Given the description of an element on the screen output the (x, y) to click on. 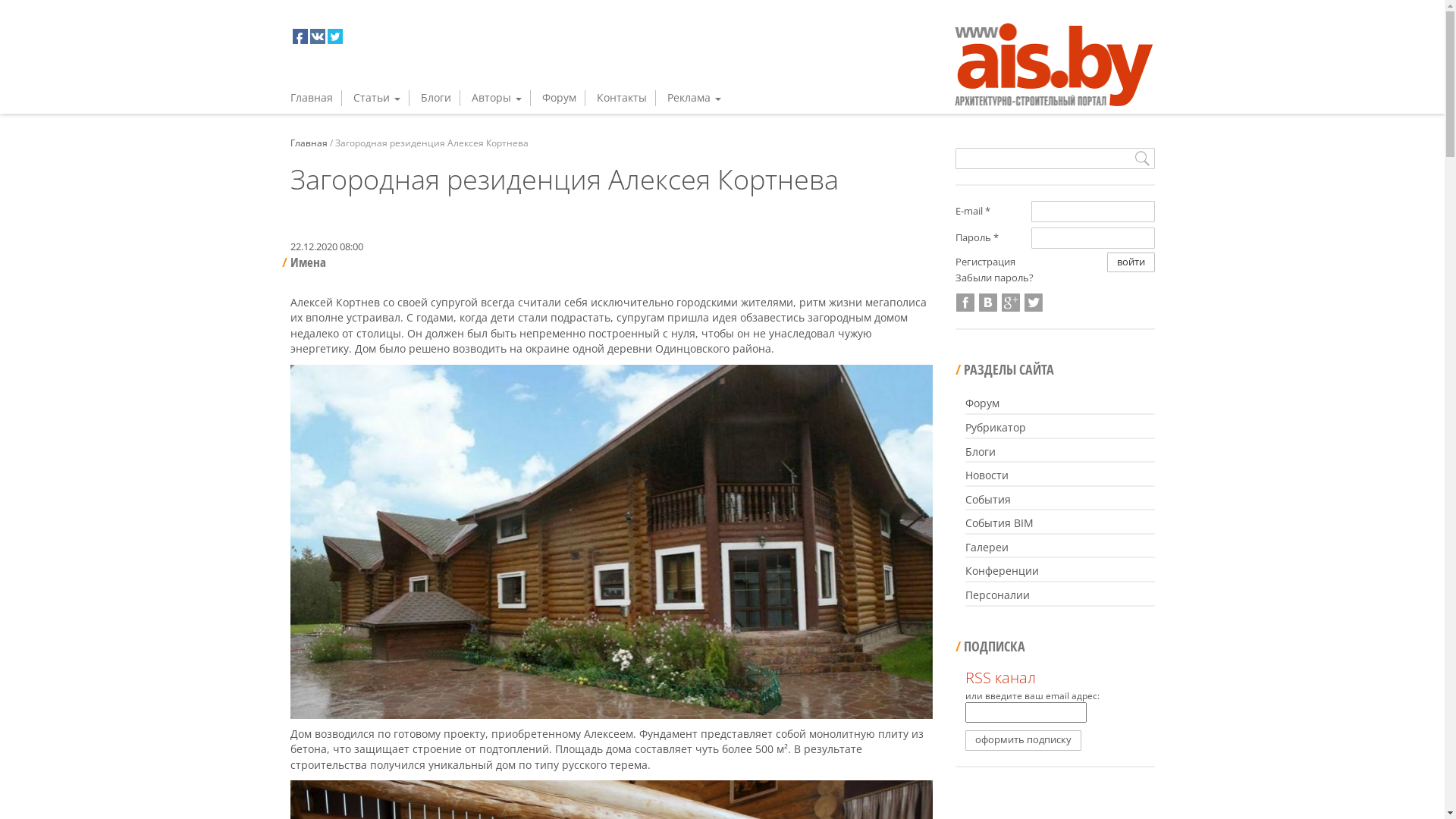
Google Element type: hover (1010, 302)
Twitter Element type: hover (1033, 302)
Facebook Element type: hover (965, 302)
